Given the description of an element on the screen output the (x, y) to click on. 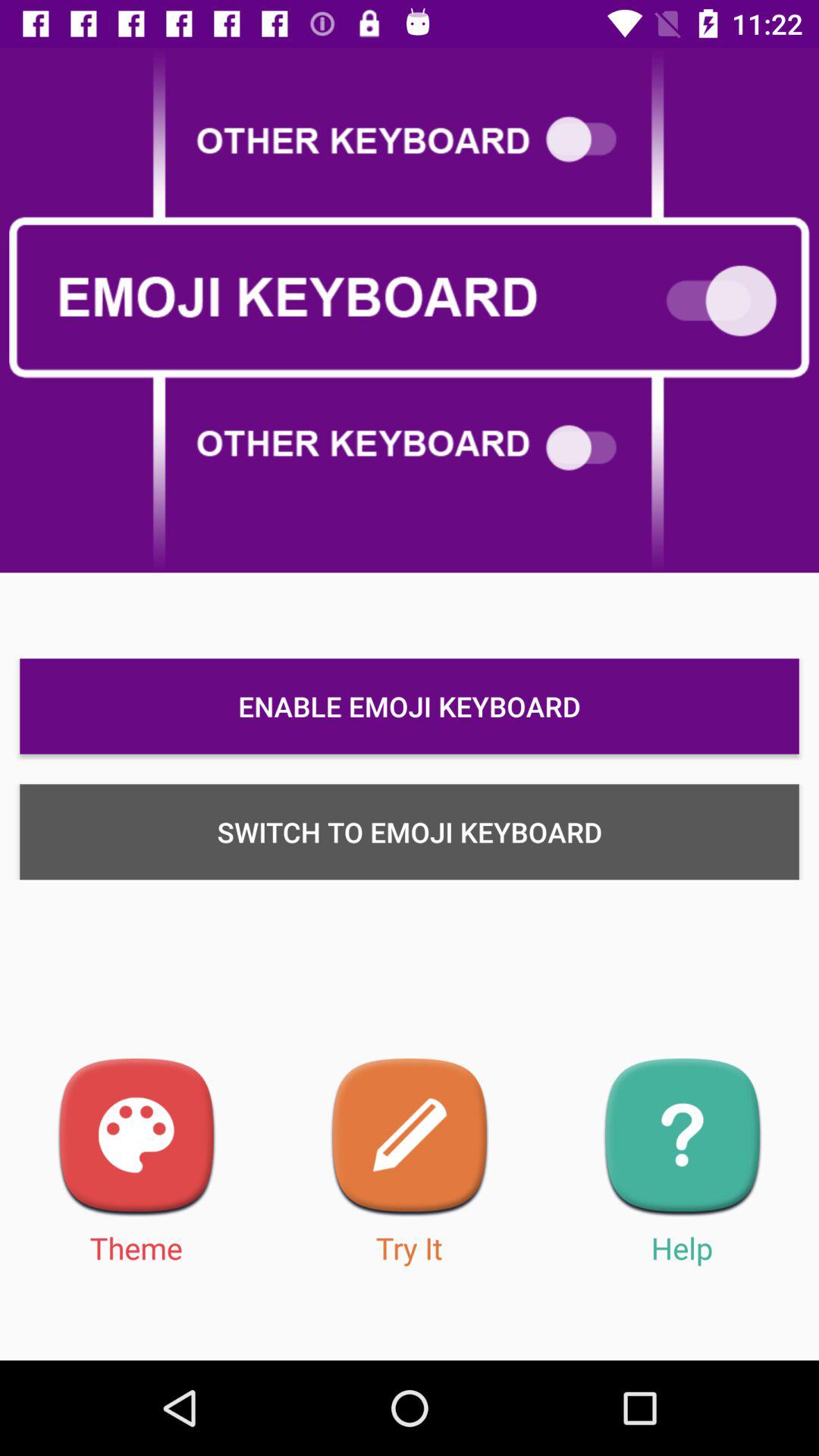
get help (682, 1137)
